Given the description of an element on the screen output the (x, y) to click on. 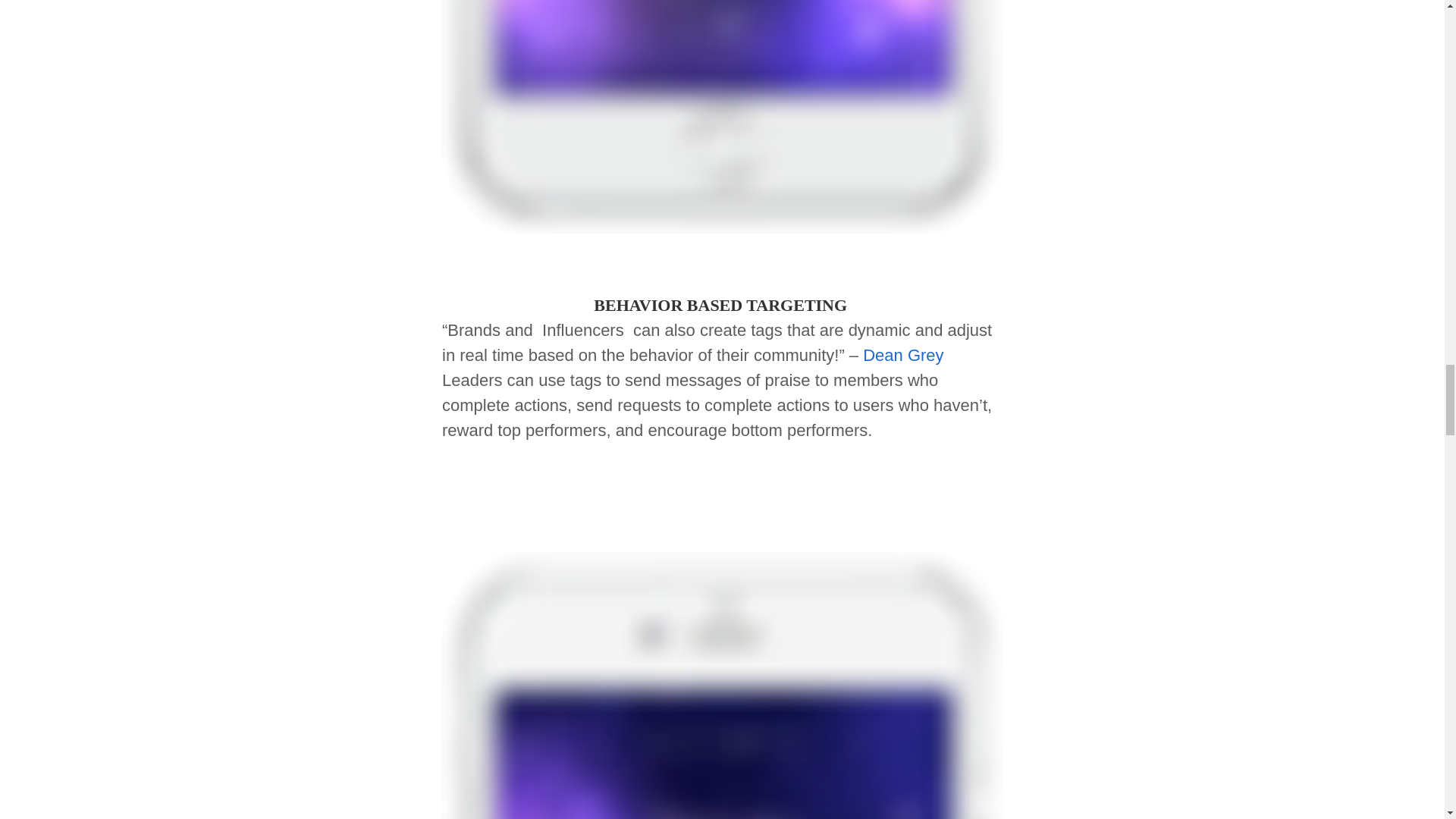
Dean Grey (903, 354)
